Given the description of an element on the screen output the (x, y) to click on. 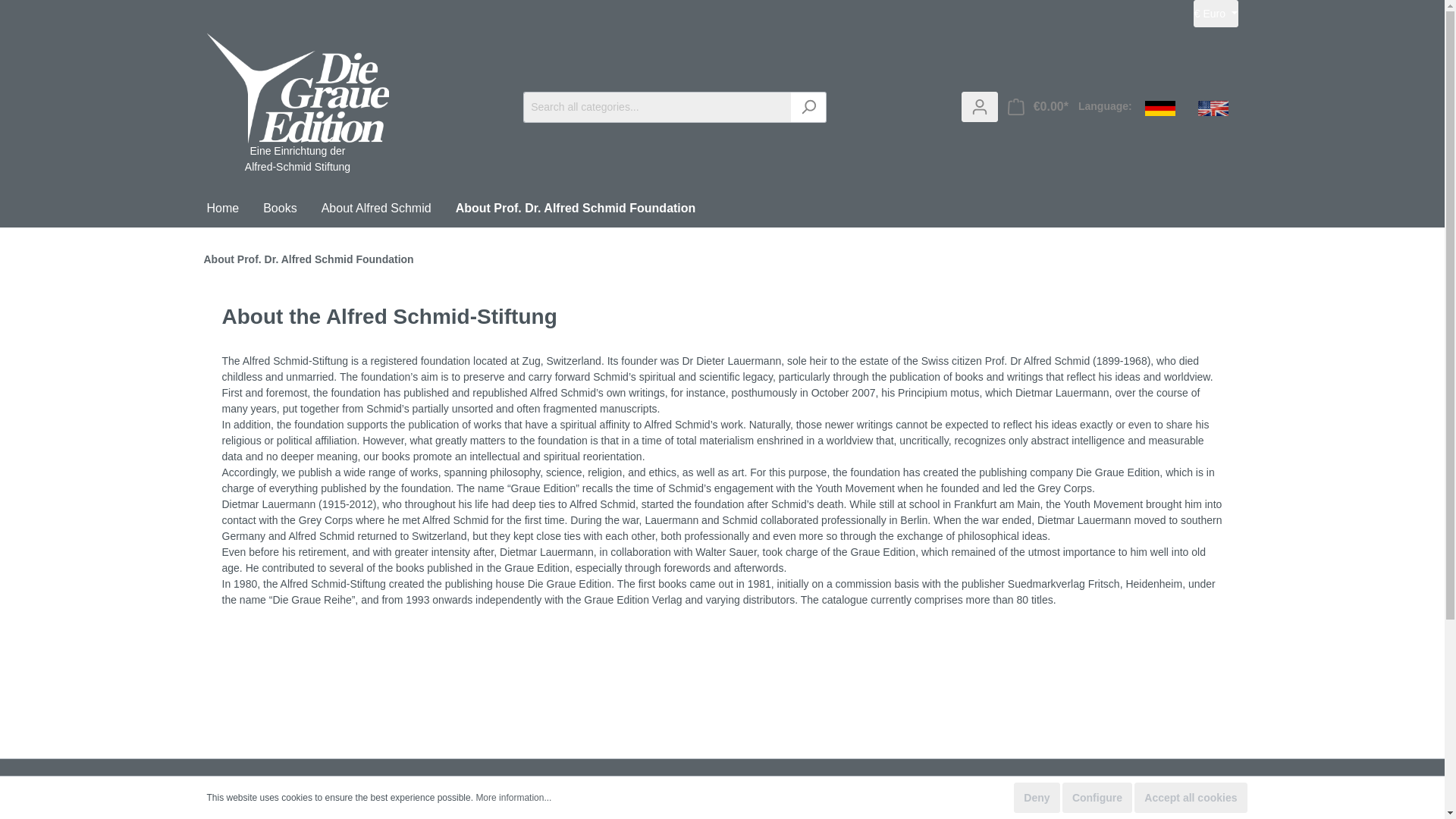
About Alfred Schmid (388, 210)
My account (978, 106)
Deutsch (1160, 106)
About Alfred Schmid (388, 210)
More information... (513, 797)
About Prof. Dr. Alfred Schmid Foundation (587, 210)
About Prof. Dr. Alfred Schmid Foundation (308, 259)
Go to homepage (297, 128)
Home (234, 210)
Shopping cart (1037, 106)
Books (291, 210)
Books (291, 210)
About Prof. Dr. Alfred Schmid Foundation (587, 210)
English (1212, 106)
